Given the description of an element on the screen output the (x, y) to click on. 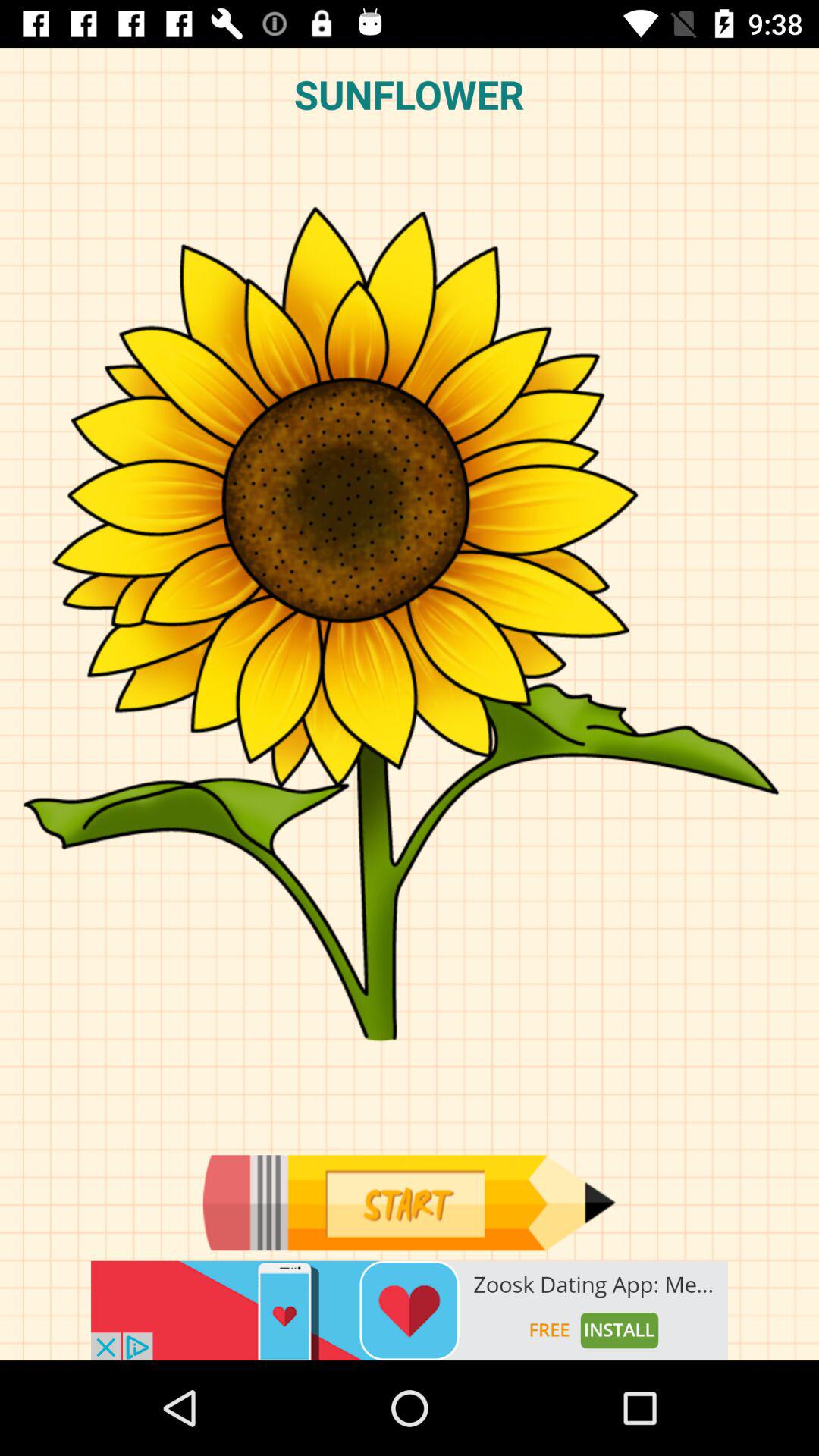
this add install (409, 1310)
